Given the description of an element on the screen output the (x, y) to click on. 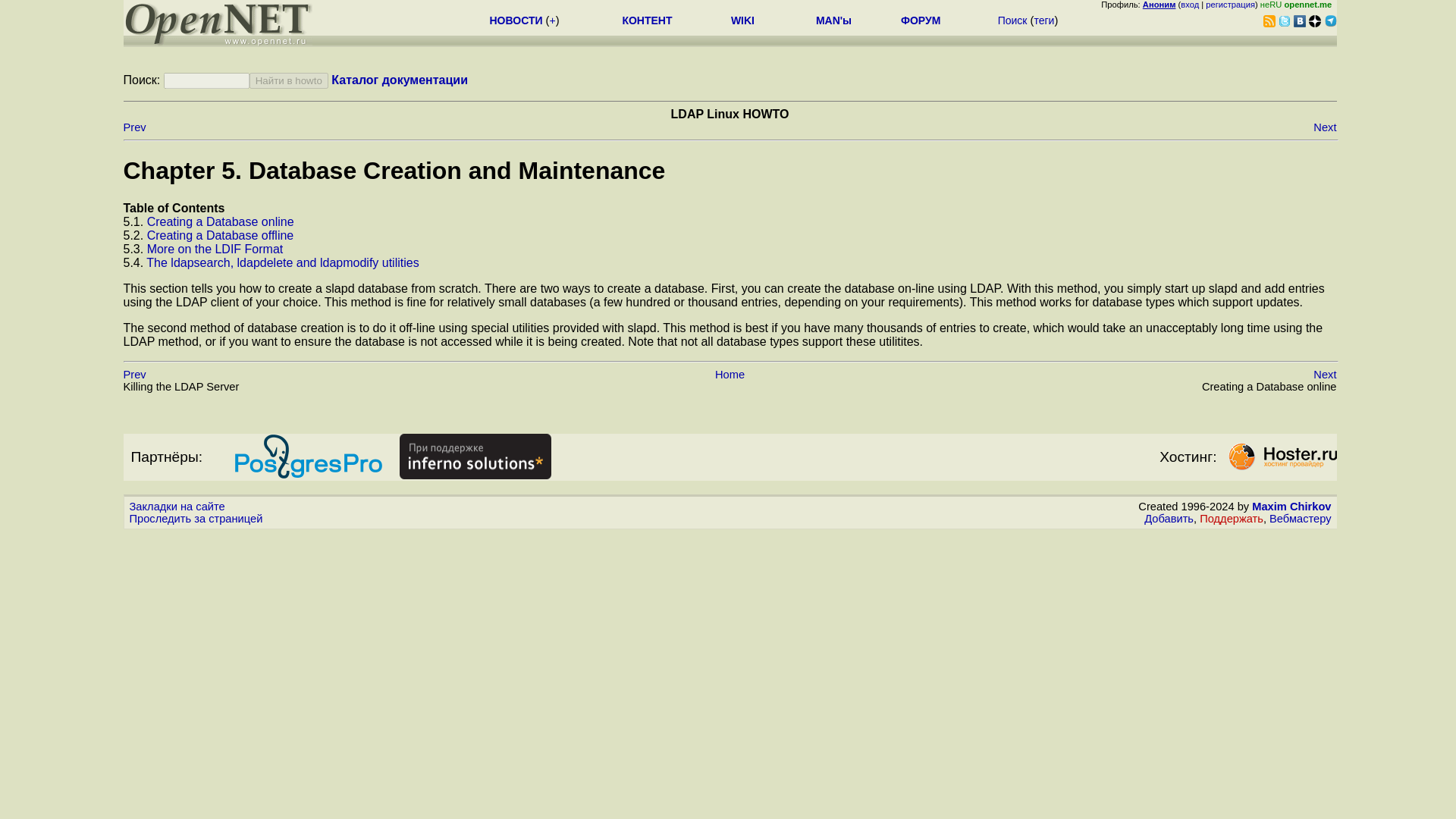
The ldapsearch, ldapdelete and ldapmodify utilities (283, 262)
Next (1324, 374)
Prev (133, 127)
Table of Contents (173, 207)
Next (1324, 127)
Twitter (1284, 21)
Chapter 5. Database Creation and Maintenance (393, 170)
Telegram (1329, 21)
WIKI (742, 20)
More on the LDIF Format (215, 248)
